Given the description of an element on the screen output the (x, y) to click on. 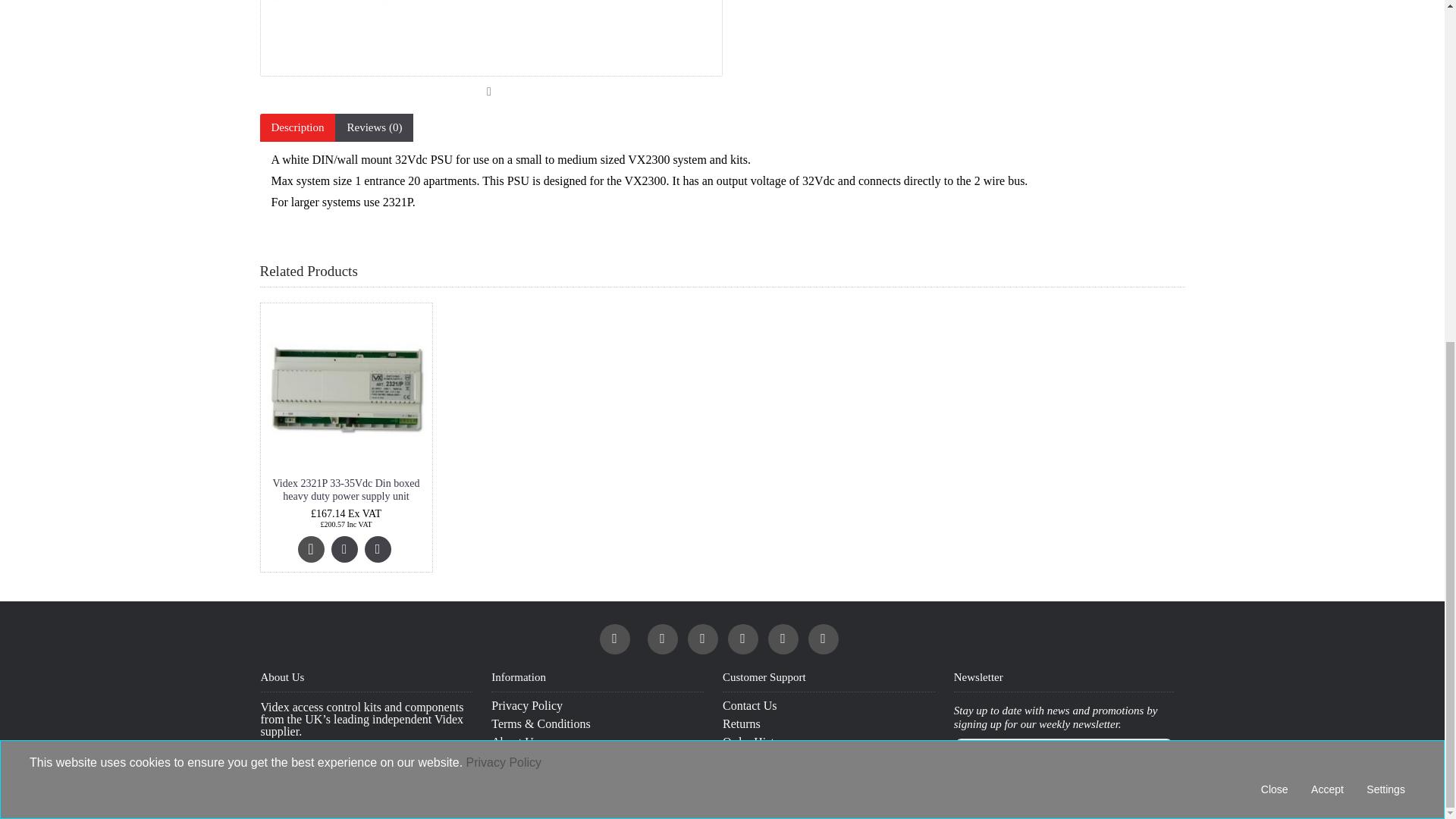
Videx 2321 32Vdc din boxed additional power supply (490, 38)
Videx 2321P 33-35Vdc Din boxed heavy duty power supply unit (345, 388)
